Given the description of an element on the screen output the (x, y) to click on. 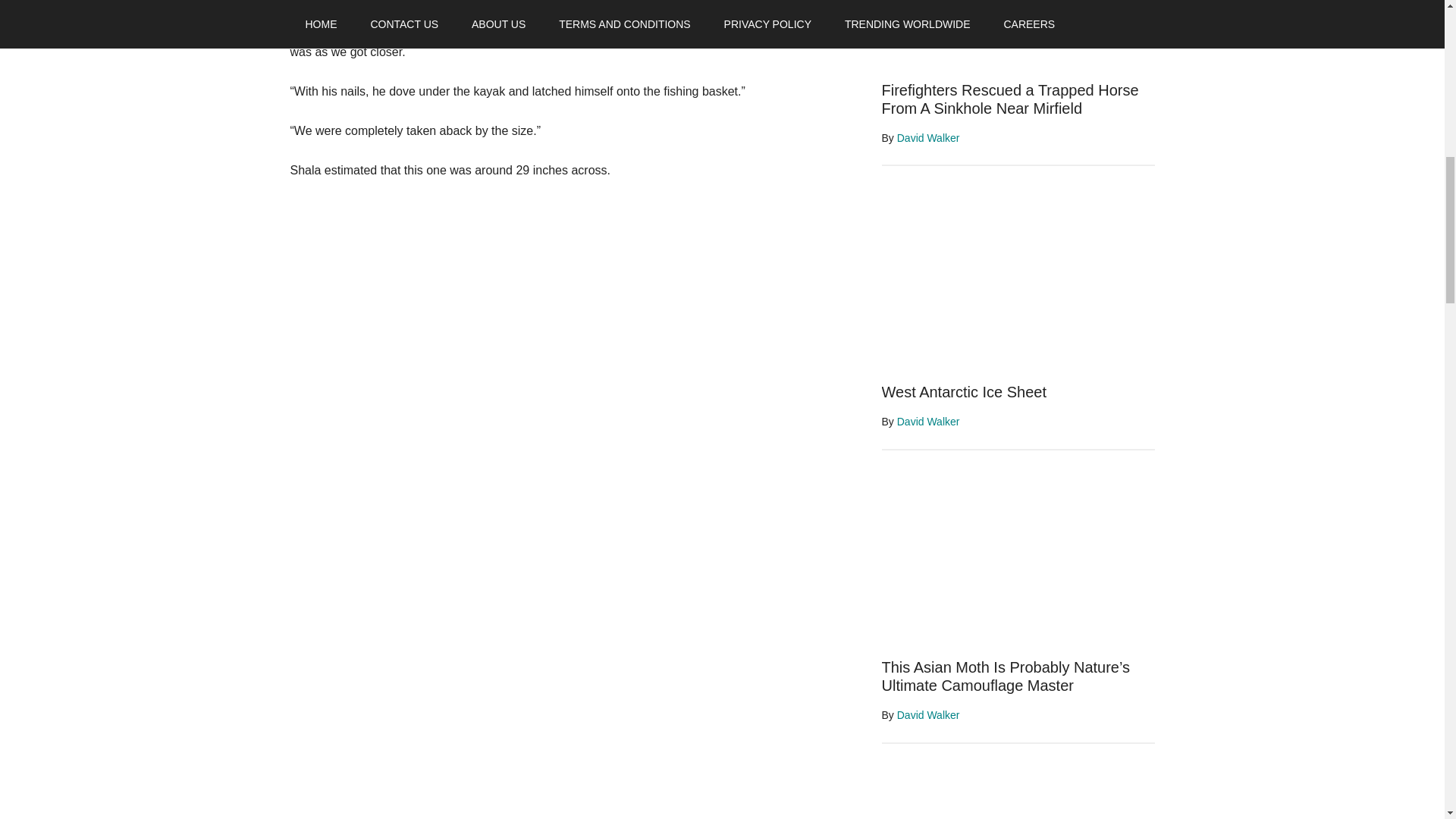
West Antarctic Ice Sheet (963, 392)
David Walker (927, 421)
David Walker (927, 137)
David Walker (927, 715)
